Given the description of an element on the screen output the (x, y) to click on. 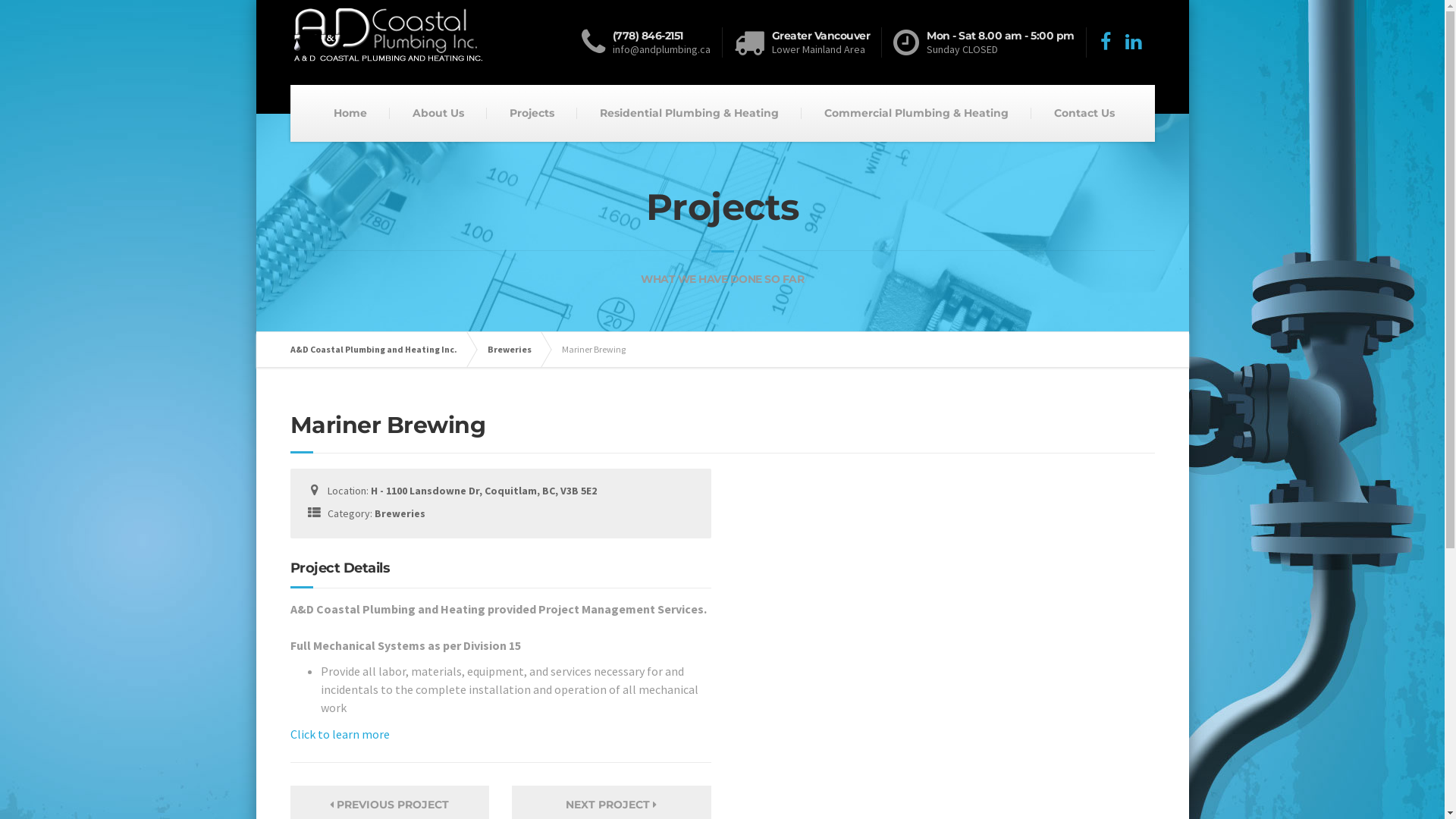
Home Element type: text (349, 112)
Residential Plumbing & Heating Element type: text (688, 112)
Projects Element type: text (531, 112)
Contact Us Element type: text (1084, 112)
About Us Element type: text (437, 112)
Commercial Plumbing & Heating Element type: text (915, 112)
Breweries Element type: text (516, 349)
Click to learn more  Element type: text (340, 733)
A&D Coastal Plumbing and Heating Inc. Element type: text (380, 349)
